Given the description of an element on the screen output the (x, y) to click on. 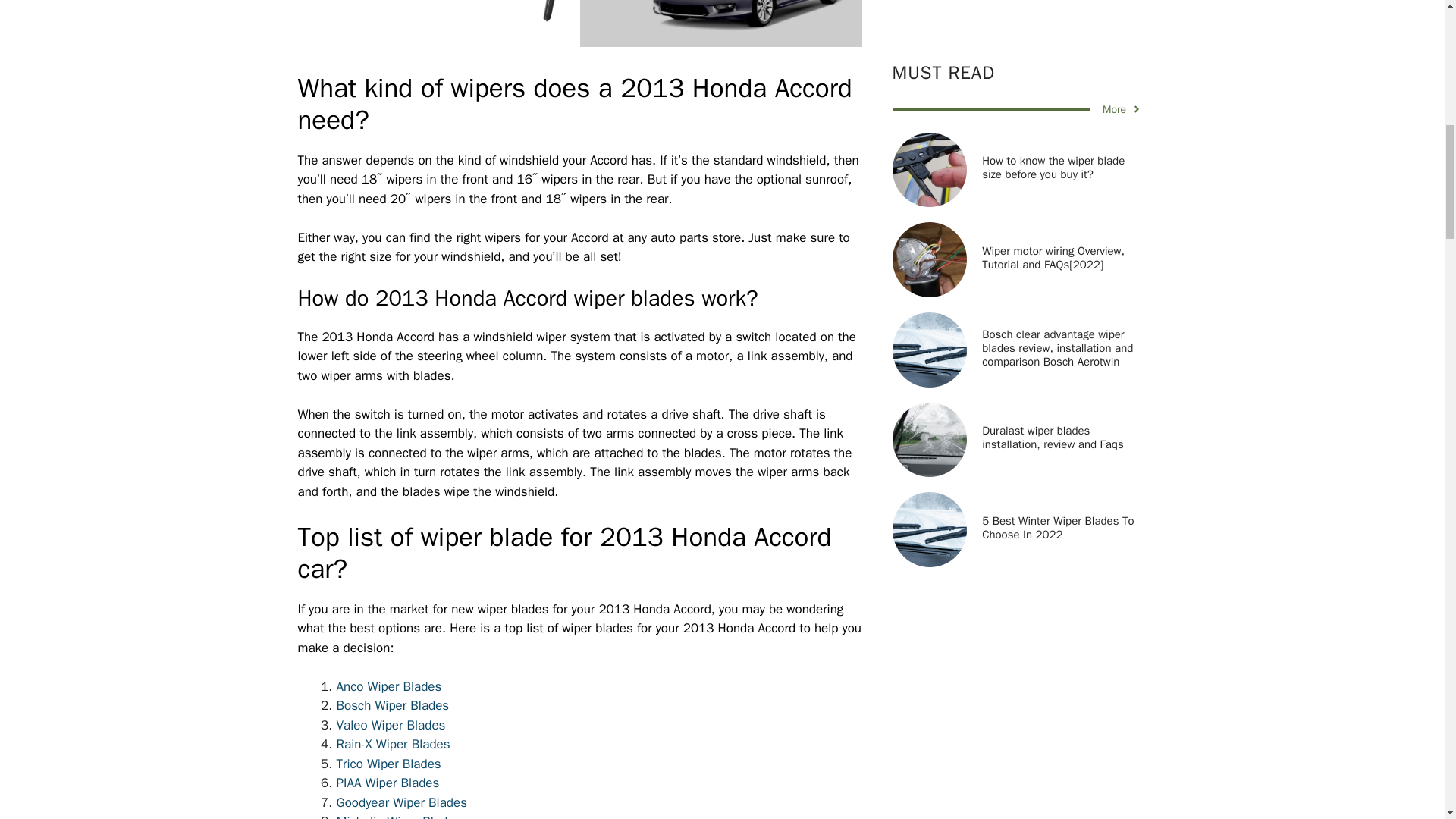
Rain-X Wiper Blades (392, 744)
Anco Wiper Blades (389, 686)
Valeo Wiper Blades (390, 725)
PIAA Wiper Blades (387, 782)
Trico Wiper Blades (388, 763)
Scroll back to top (1406, 720)
Bosch Wiper Blades (392, 705)
